Given the description of an element on the screen output the (x, y) to click on. 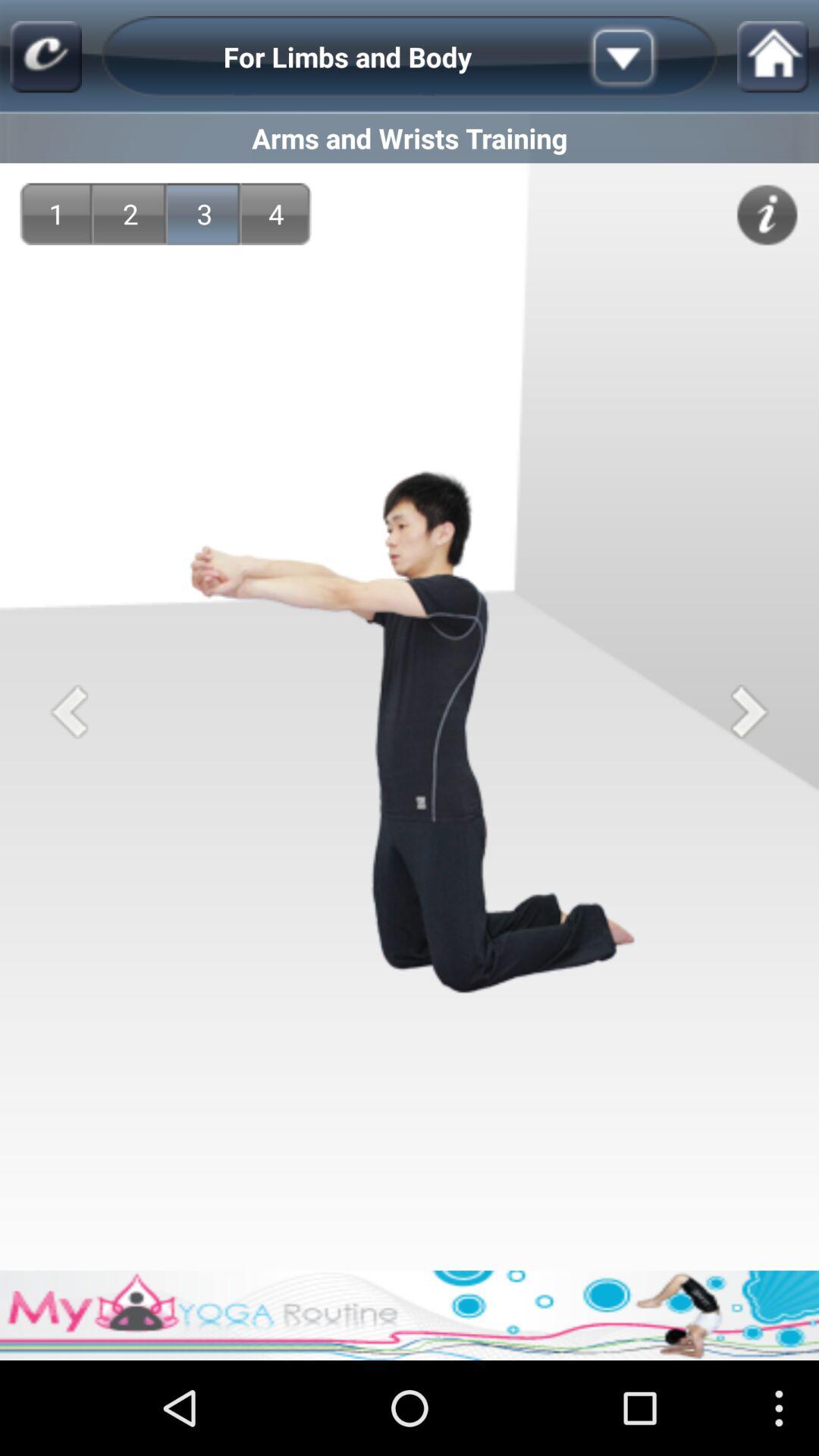
go home (772, 56)
